Given the description of an element on the screen output the (x, y) to click on. 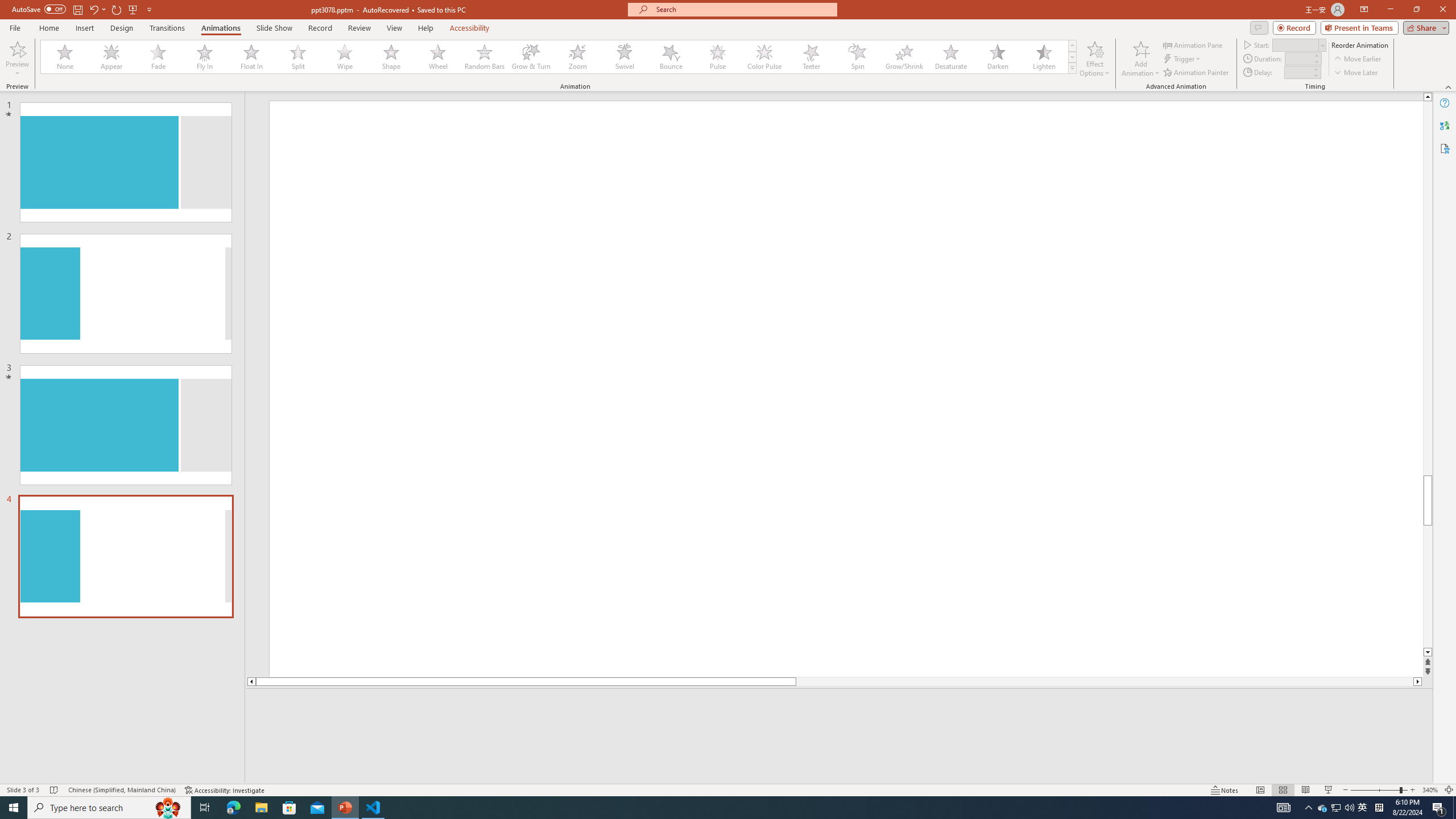
Desaturate (950, 56)
Move Earlier (1357, 58)
Split (298, 56)
Add Animation (1141, 58)
Grow & Turn (531, 56)
